Given the description of an element on the screen output the (x, y) to click on. 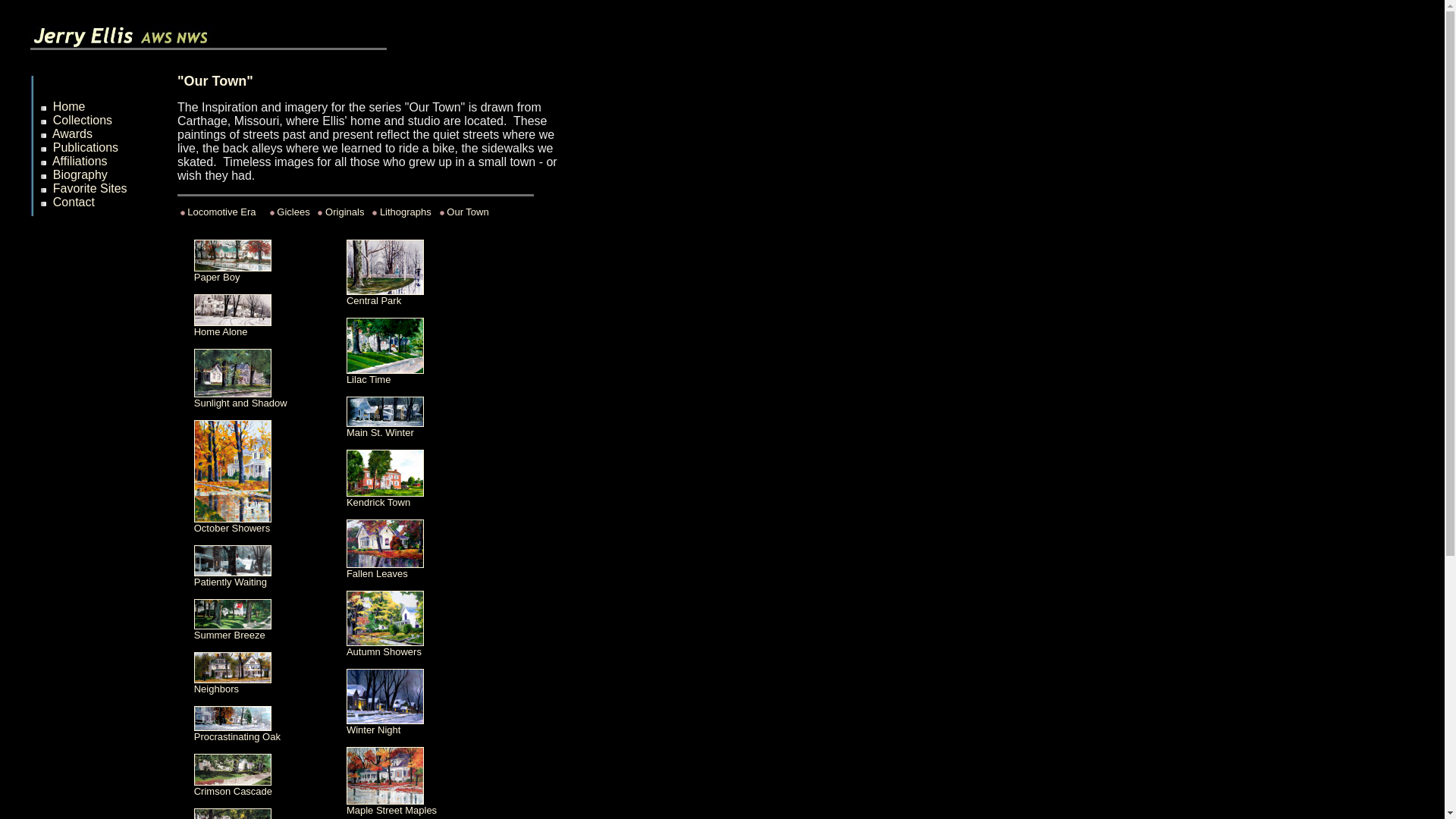
Publications (84, 146)
Locomotive Era (223, 211)
Our Town (466, 211)
Contact (73, 201)
Favorite Sites (90, 187)
Giclees (292, 211)
Affiliations (79, 160)
Home (68, 106)
Originals (344, 211)
Lithographs (405, 211)
Collections (82, 119)
Awards (72, 133)
Biography (79, 174)
